Given the description of an element on the screen output the (x, y) to click on. 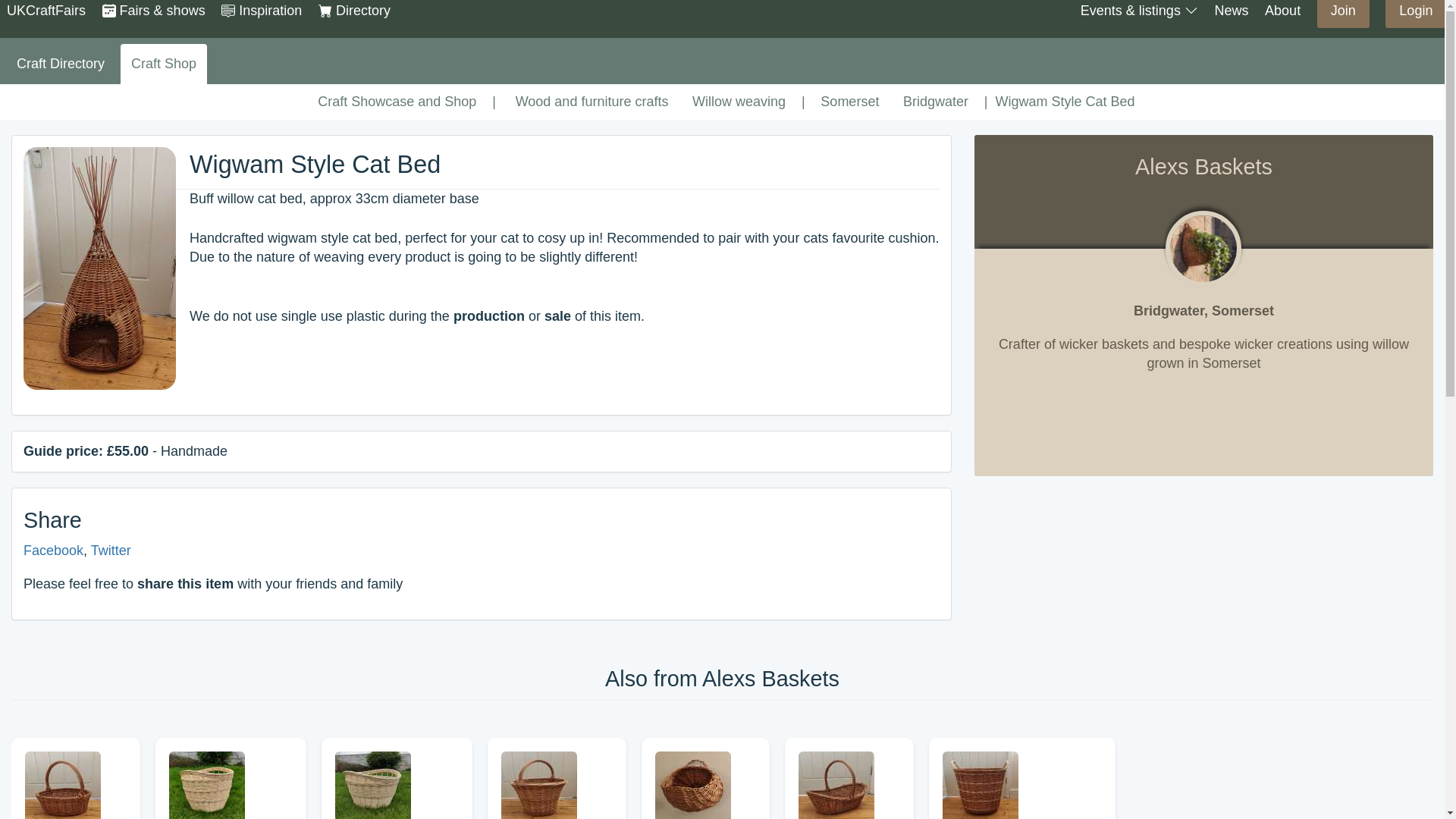
Wood and furniture crafts (591, 101)
Alexs Baskets (1203, 248)
Twitter (110, 549)
Get the latest news with Craft Weekly (1230, 10)
Join (1343, 13)
Craft Showcase and Shop (396, 101)
Craft Shop (163, 64)
Somerset (850, 101)
Search the directory and view the shop window (354, 10)
News (1230, 10)
